Given the description of an element on the screen output the (x, y) to click on. 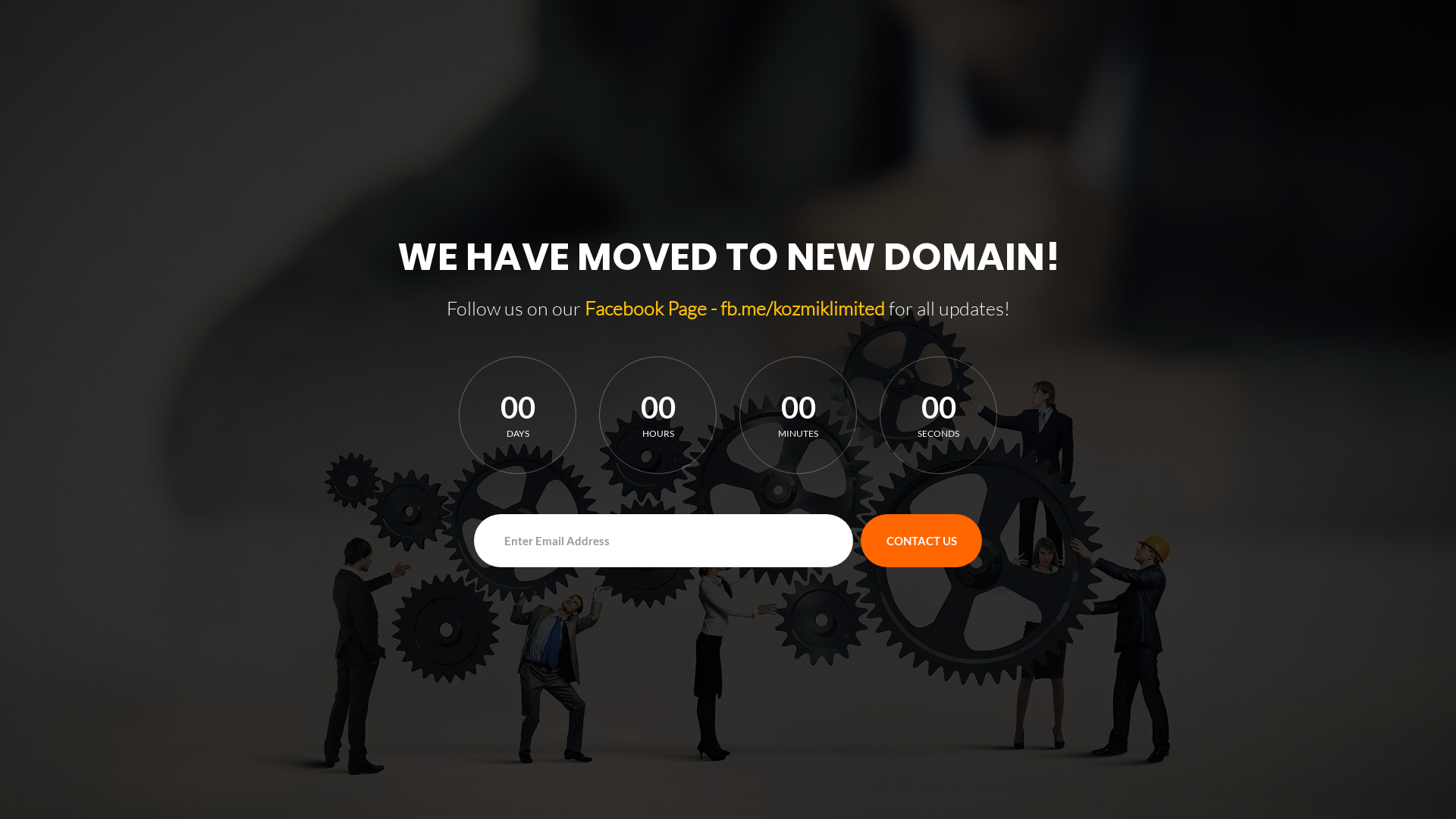
Facebook Page - fb.me/kozmiklimited Element type: text (733, 308)
CONTACT US Element type: text (921, 540)
